Given the description of an element on the screen output the (x, y) to click on. 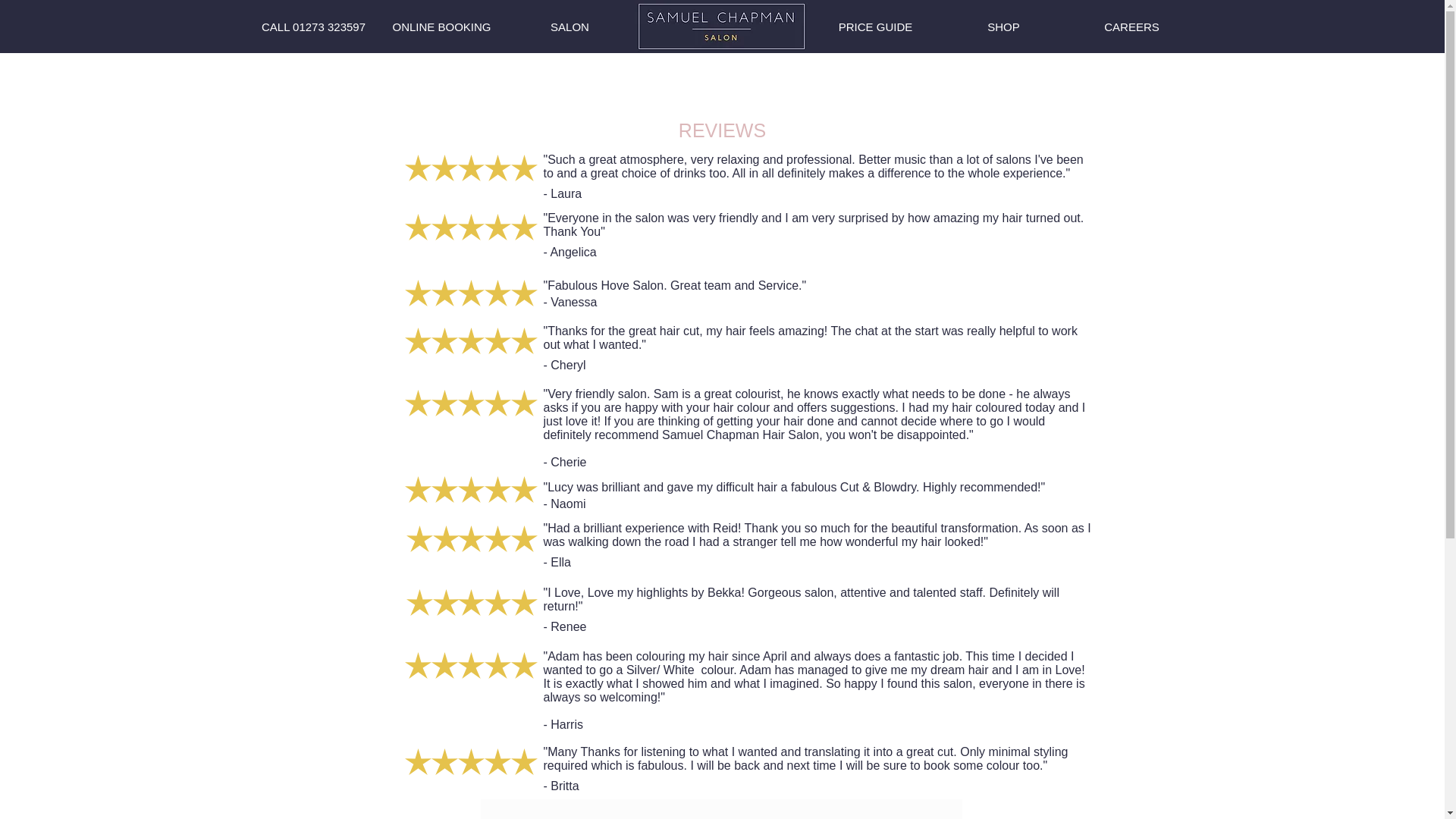
ONLINE BOOKING (442, 26)
SHOP (1003, 26)
PRICE GUIDE (876, 26)
SALON (569, 26)
CAREERS (1132, 26)
